Given the description of an element on the screen output the (x, y) to click on. 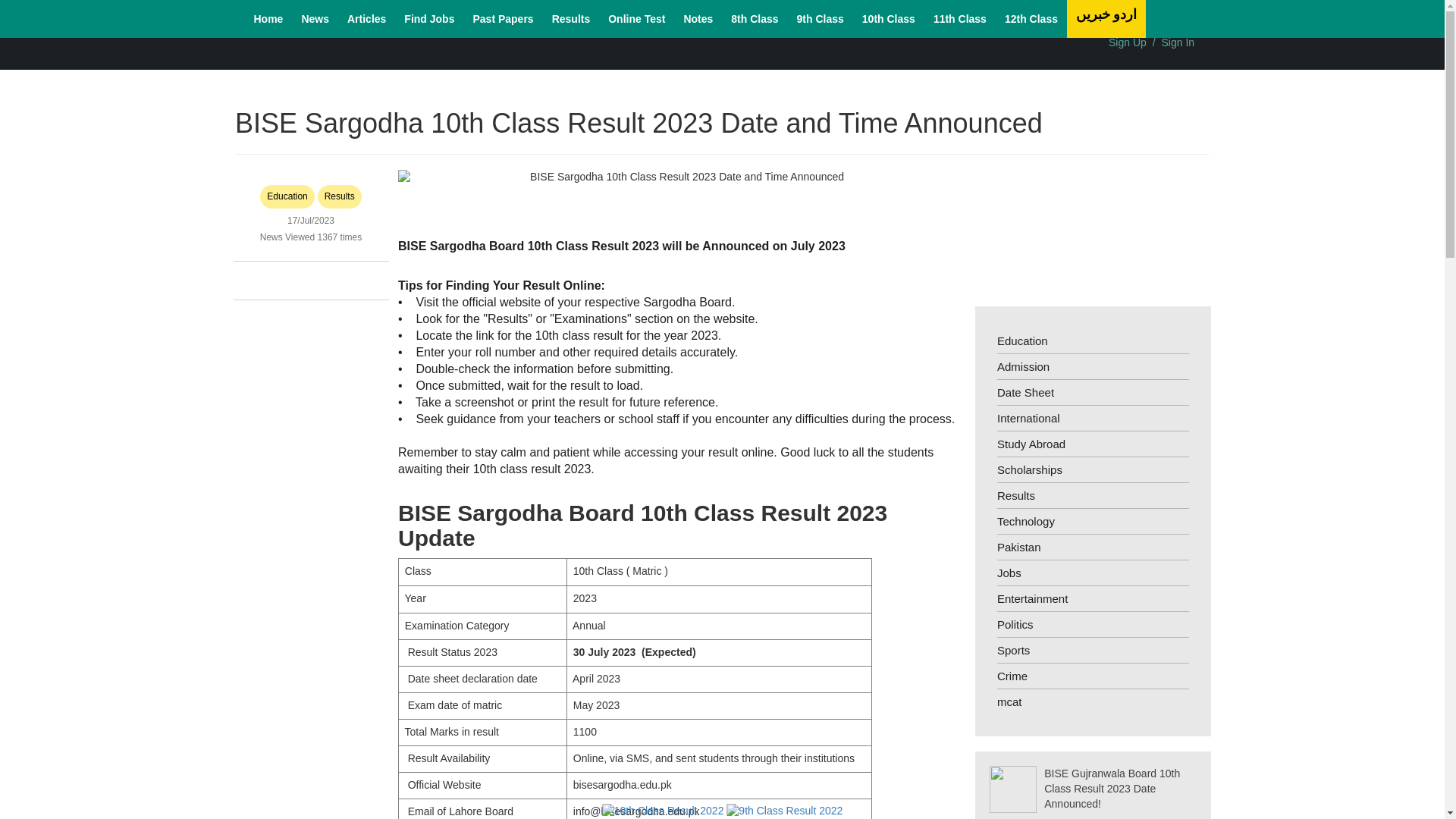
Find Jobs (428, 18)
Articles (365, 18)
Sign Up (1127, 42)
Sign In (1178, 42)
Home (268, 18)
News (314, 18)
